Given the description of an element on the screen output the (x, y) to click on. 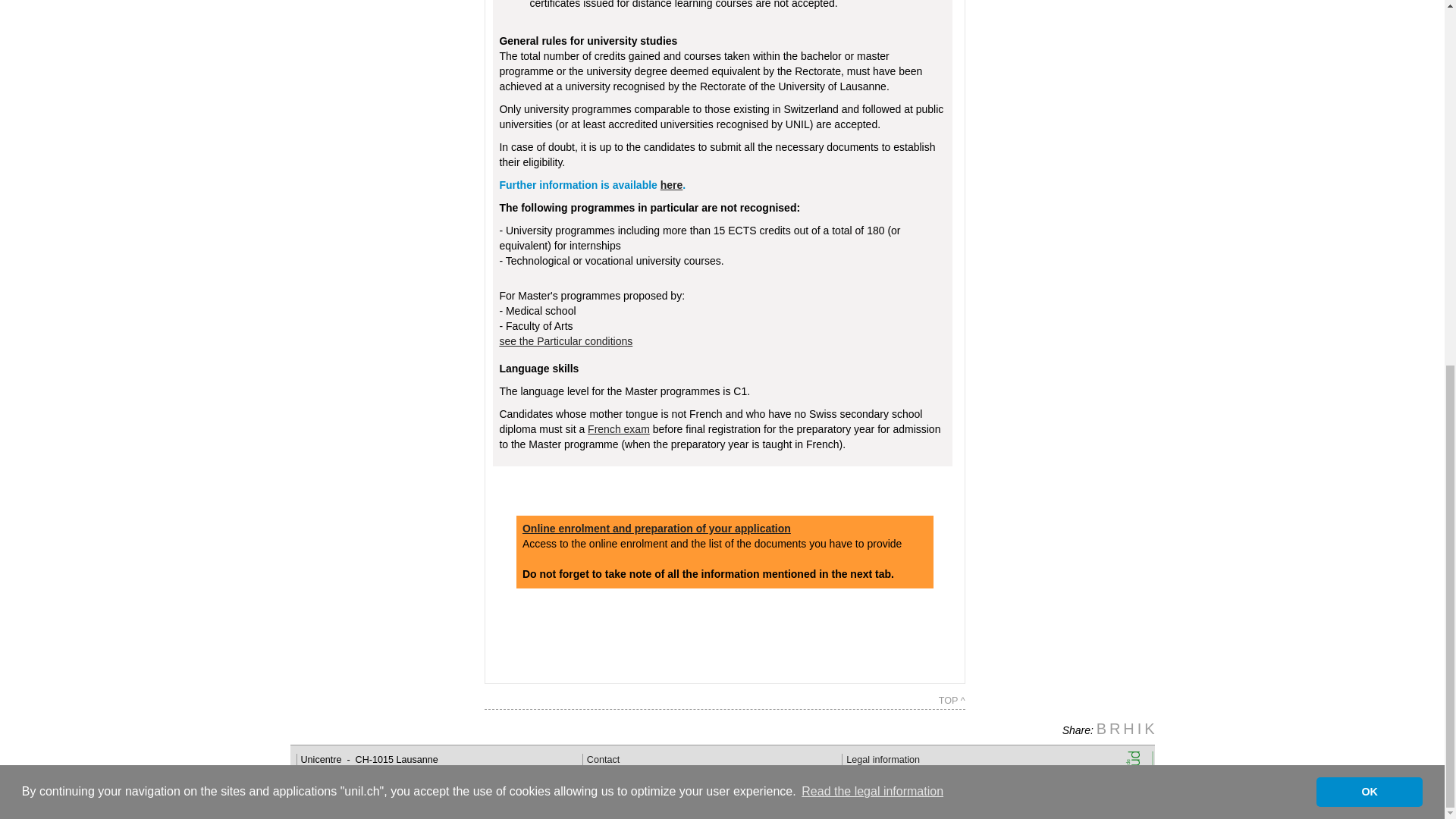
Read the legal information (871, 135)
OK (1369, 135)
